Given the description of an element on the screen output the (x, y) to click on. 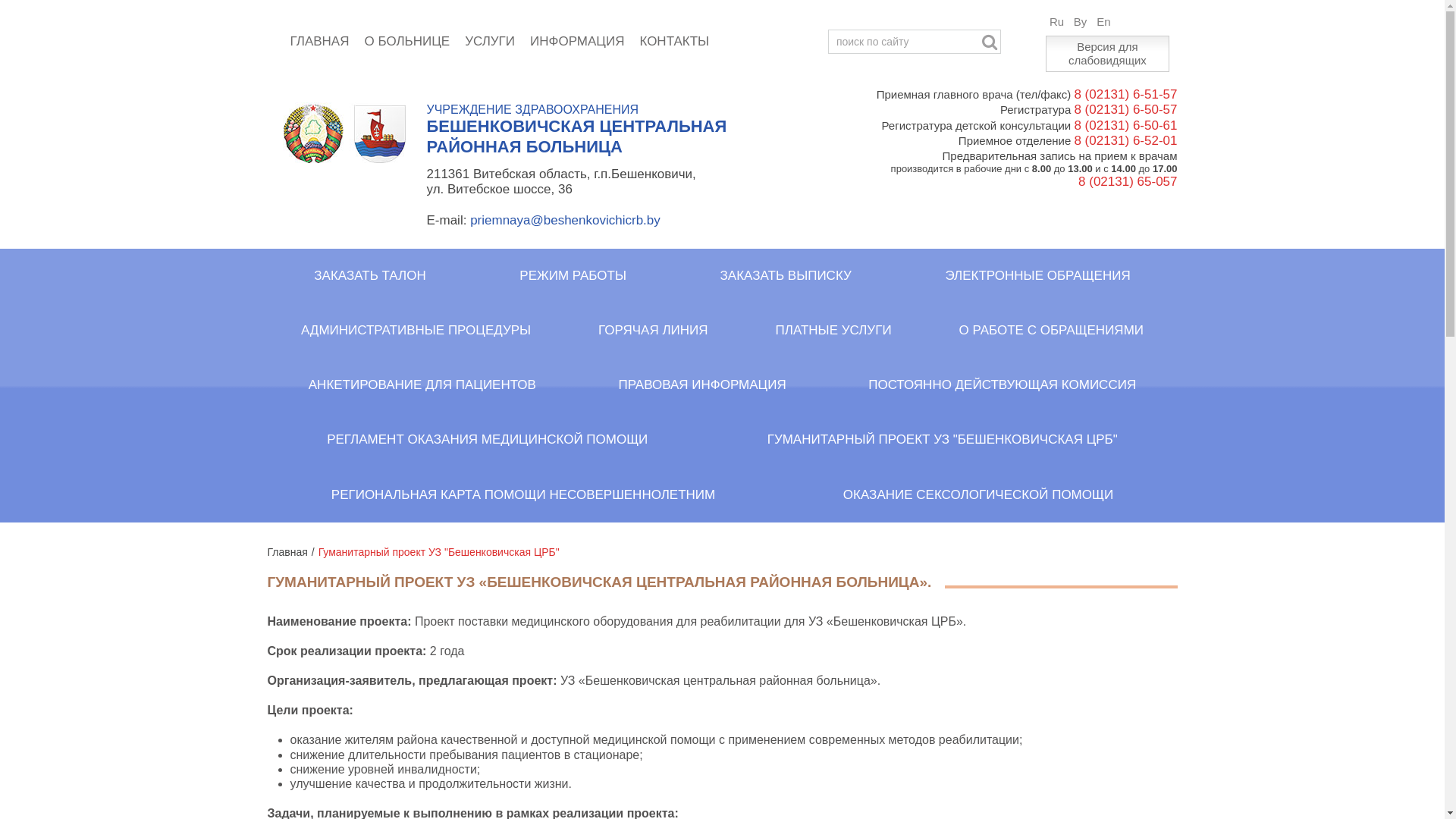
En Element type: text (1102, 21)
Ru Element type: text (1056, 21)
By Element type: text (1080, 21)
priemnaya@beshenkovichicrb.by Element type: text (565, 220)
